Given the description of an element on the screen output the (x, y) to click on. 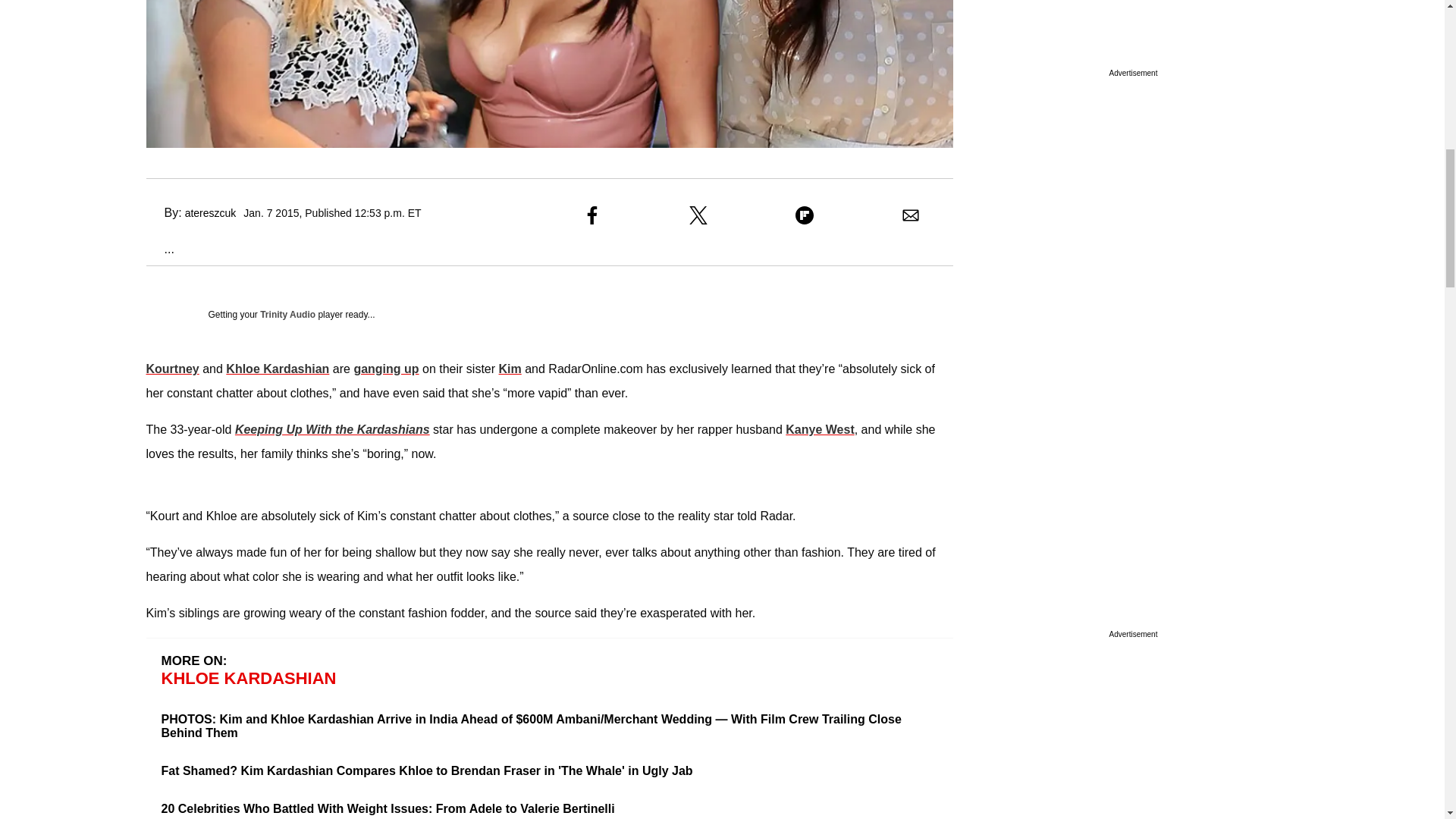
ganging up (386, 368)
Kim (510, 368)
Kourtney (171, 368)
Share to X (697, 215)
Trinity Audio (287, 314)
Khloe Kardashian (277, 368)
Keeping Up With the Kardashians (331, 429)
Share to Facebook (590, 215)
Kanye West (819, 429)
atereszcuk (209, 213)
... (159, 248)
Share to Email (909, 215)
Share to Flipboard (803, 215)
